Given the description of an element on the screen output the (x, y) to click on. 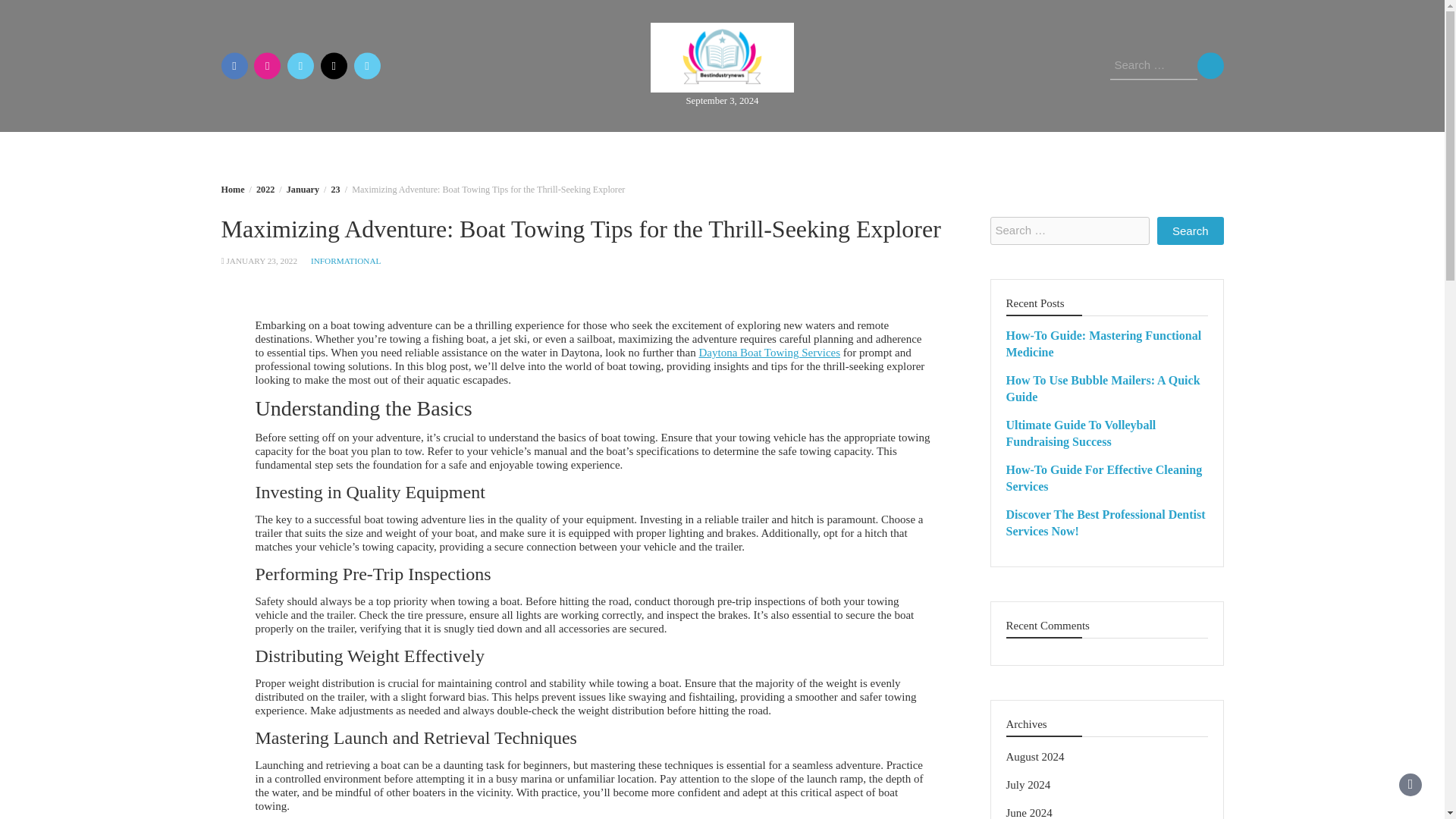
Portfolio (781, 151)
About (652, 151)
2022 (265, 189)
Contact (858, 151)
Daytona Boat Towing Services (769, 352)
Blog (713, 151)
Search (1209, 65)
Search (1209, 65)
Search (1209, 65)
JANUARY 23, 2022 (261, 260)
